Given the description of an element on the screen output the (x, y) to click on. 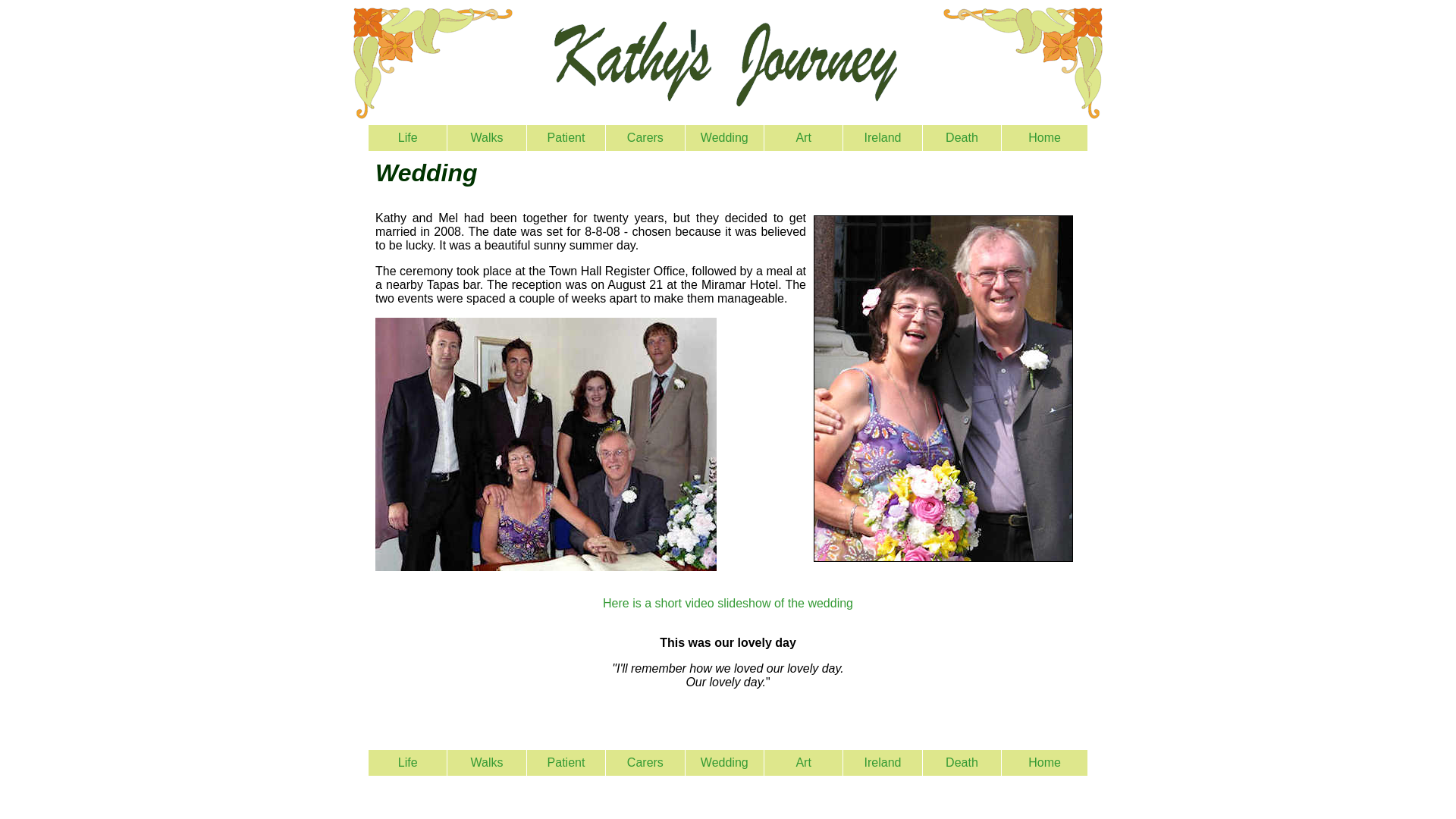
Patient (566, 762)
Death (961, 137)
Life (407, 137)
Death (961, 762)
Patient (566, 137)
Life (407, 762)
Here is a short video slideshow of the wedding (727, 603)
Art (802, 762)
Home (1044, 762)
Walks (486, 762)
Ireland (882, 762)
Carers (645, 762)
Walks (486, 137)
Ireland (882, 137)
Art (802, 137)
